Given the description of an element on the screen output the (x, y) to click on. 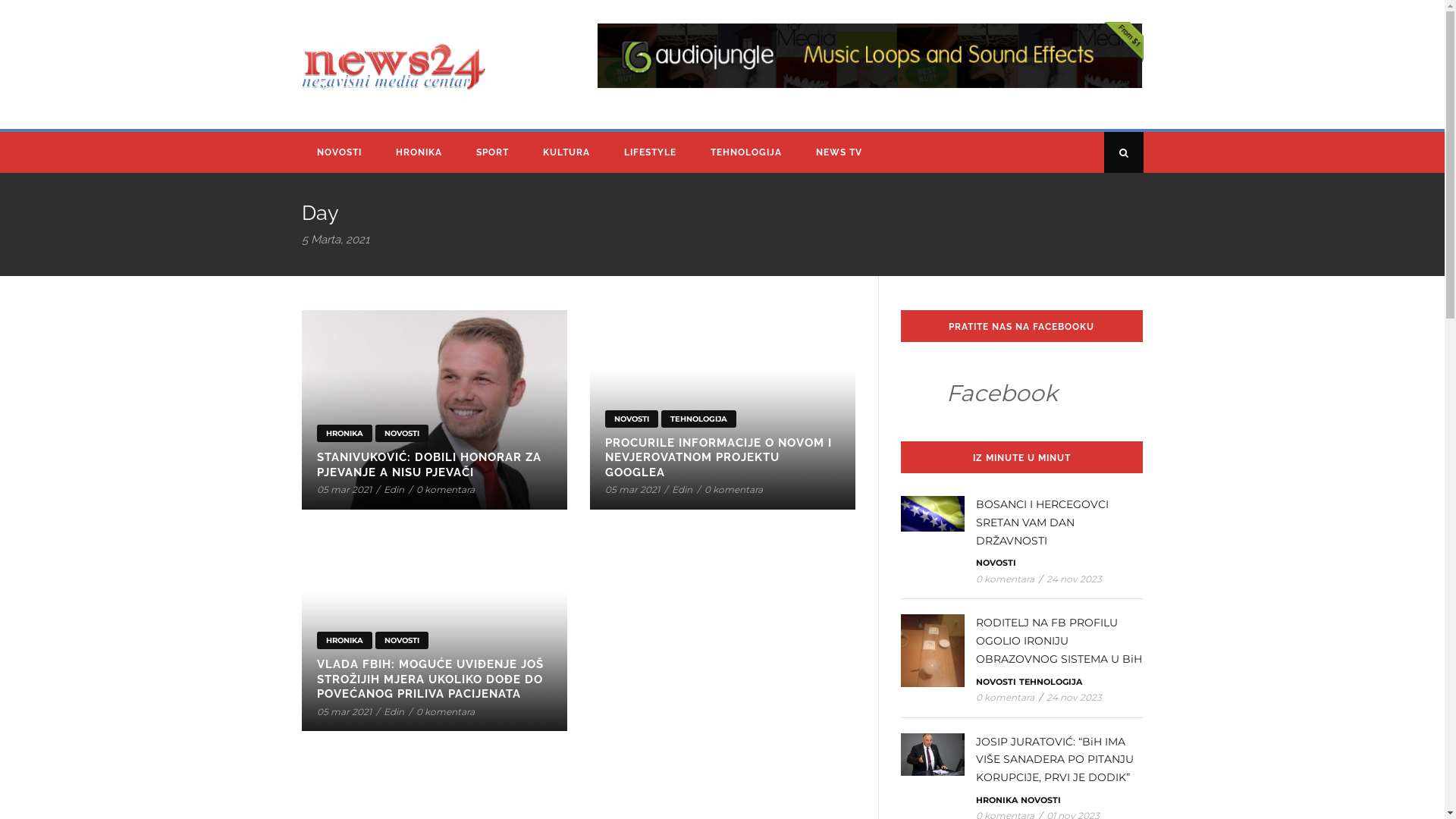
NOVOSTI Element type: text (400, 640)
NOVOSTI Element type: text (400, 433)
Edin Element type: text (681, 489)
TEHNOLOGIJA Element type: text (698, 418)
05 mar 2021 Element type: text (343, 489)
LIFESTYLE Element type: text (651, 151)
NOVOSTI Element type: text (995, 681)
NOVOSTI Element type: text (995, 562)
Edin Element type: text (393, 489)
24 nov 2023 Element type: text (1073, 696)
Facebook Element type: text (1001, 393)
HRONIKA Element type: text (344, 640)
24 nov 2023 Element type: text (1073, 578)
SPORT Element type: text (494, 151)
HRONIKA Element type: text (420, 151)
0 komentara Element type: text (444, 711)
0 komentara Element type: text (1004, 578)
0 komentara Element type: text (444, 489)
KULTURA Element type: text (567, 151)
NOVOSTI Element type: text (1040, 799)
05 mar 2021 Element type: text (632, 489)
NOVOSTI Element type: text (340, 151)
HRONIKA Element type: text (344, 433)
0 komentara Element type: text (1004, 696)
HRONIKA Element type: text (995, 799)
NEWS TV Element type: text (840, 151)
TEHNOLOGIJA Element type: text (1050, 681)
05 mar 2021 Element type: text (343, 711)
0 komentara Element type: text (732, 489)
NOVOSTI Element type: text (631, 418)
TEHNOLOGIJA Element type: text (747, 151)
Edin Element type: text (393, 711)
